Given the description of an element on the screen output the (x, y) to click on. 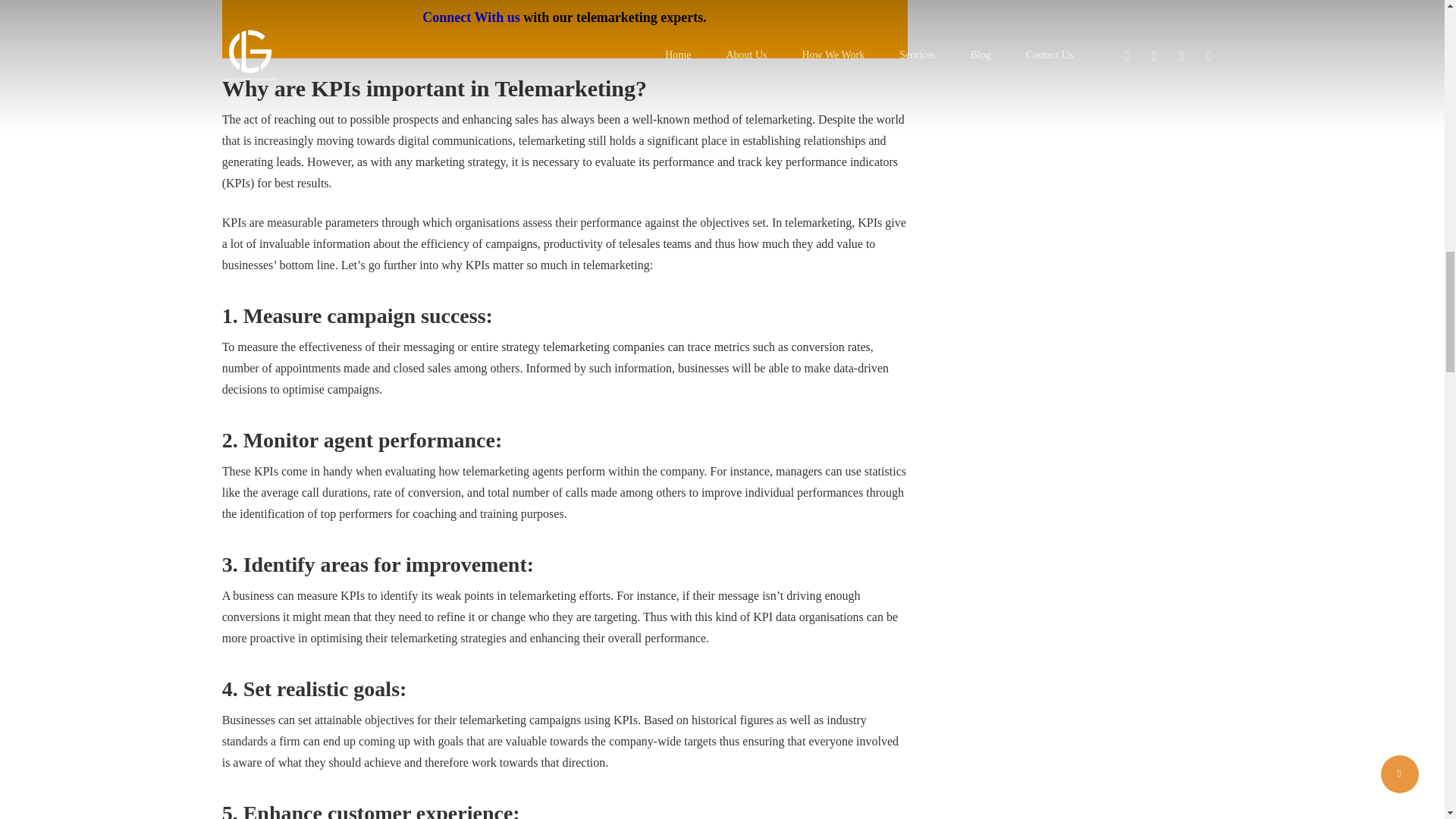
Connect With us (470, 17)
